Given the description of an element on the screen output the (x, y) to click on. 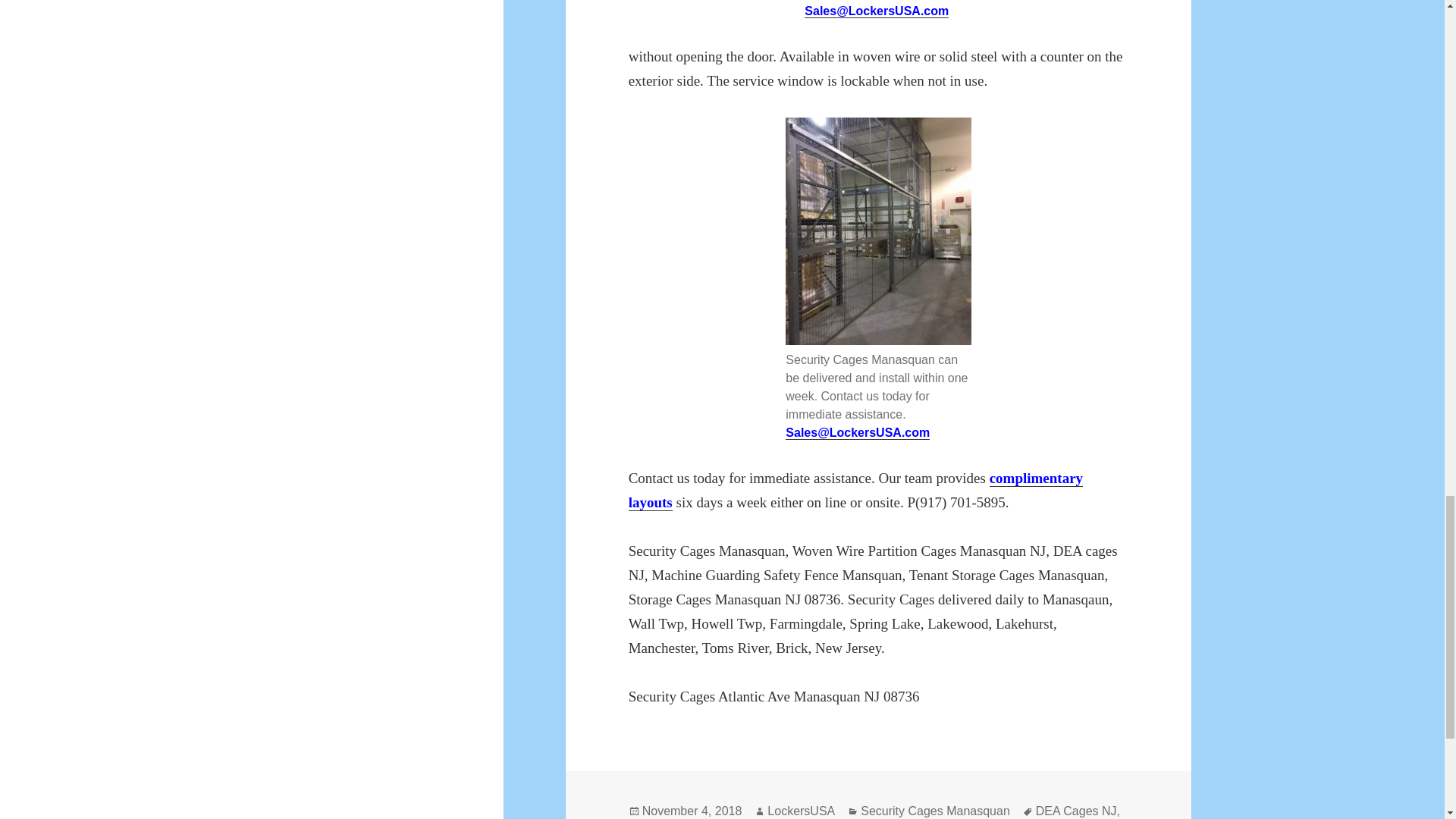
Security Cages Manasquan (935, 811)
LockersUSA (800, 811)
November 4, 2018 (692, 811)
DEA Cages NJ (1075, 811)
complimentary layouts (855, 490)
